Given the description of an element on the screen output the (x, y) to click on. 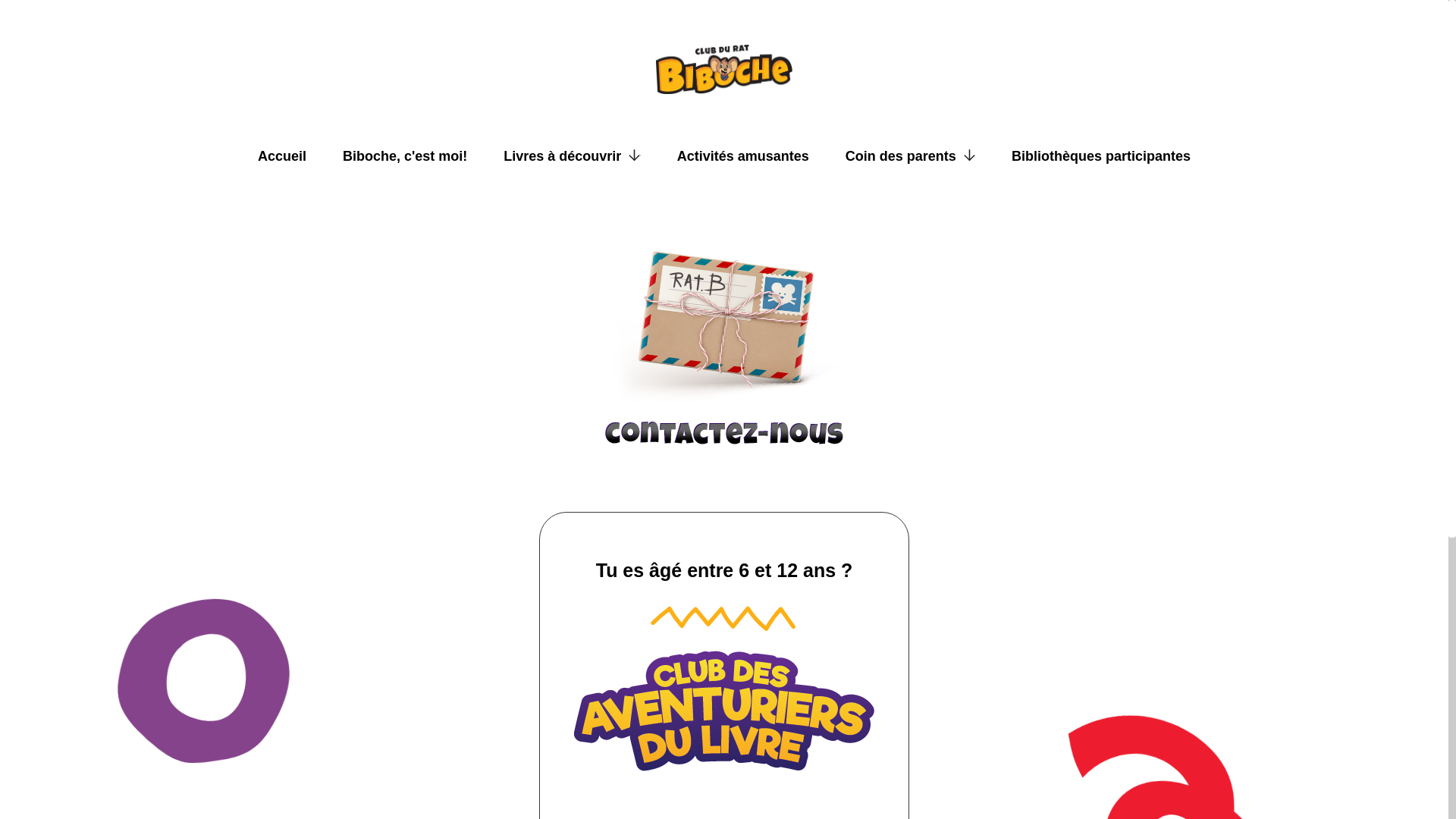
Coin des parents Element type: text (910, 156)
Accueil Element type: text (281, 156)
Contacter par courriel Element type: hover (724, 348)
Biboche, c'est moi! Element type: text (404, 156)
